Given the description of an element on the screen output the (x, y) to click on. 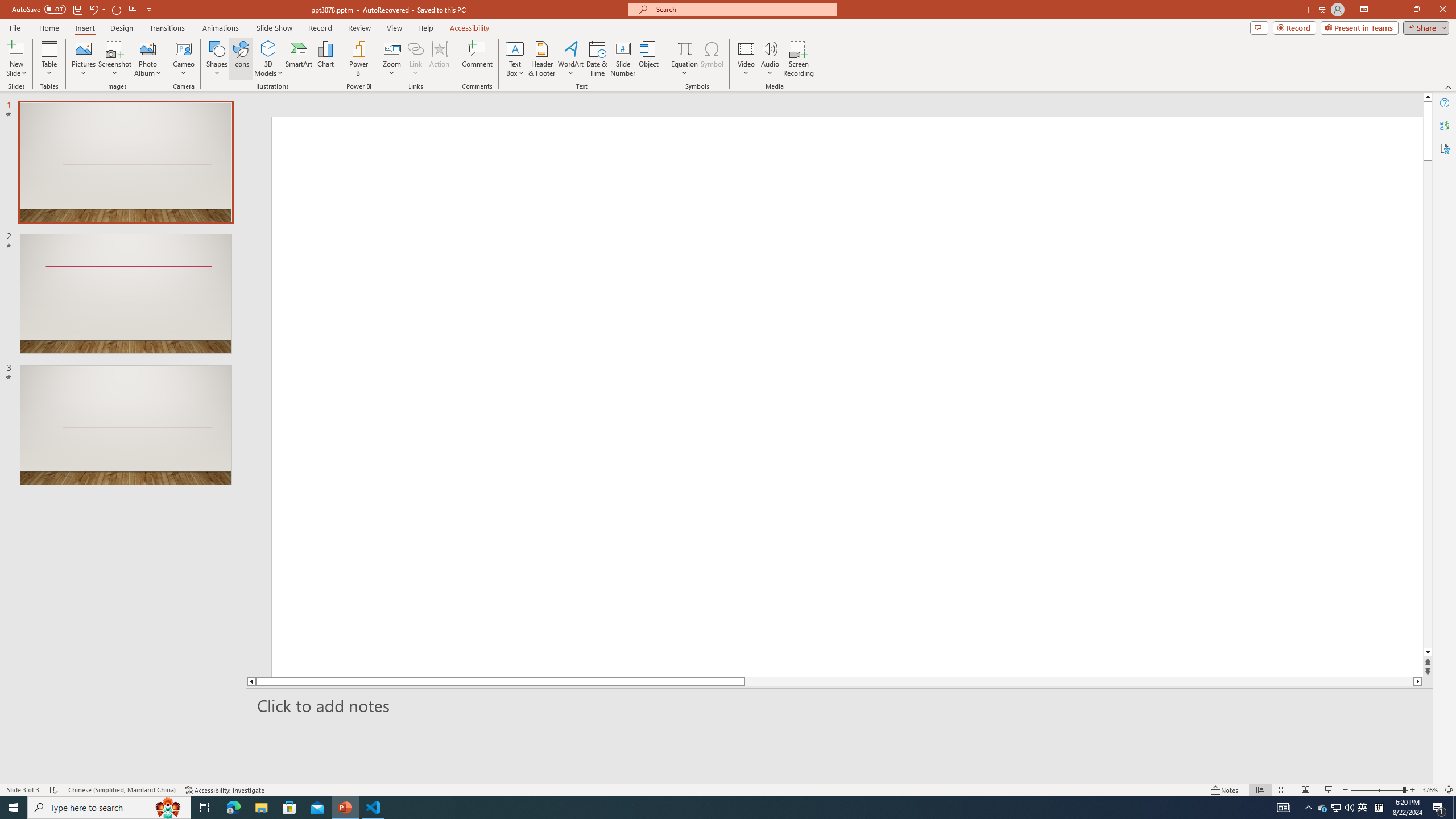
Pictures (83, 58)
SmartArt... (298, 58)
Power BI (358, 58)
Action (439, 58)
